Given the description of an element on the screen output the (x, y) to click on. 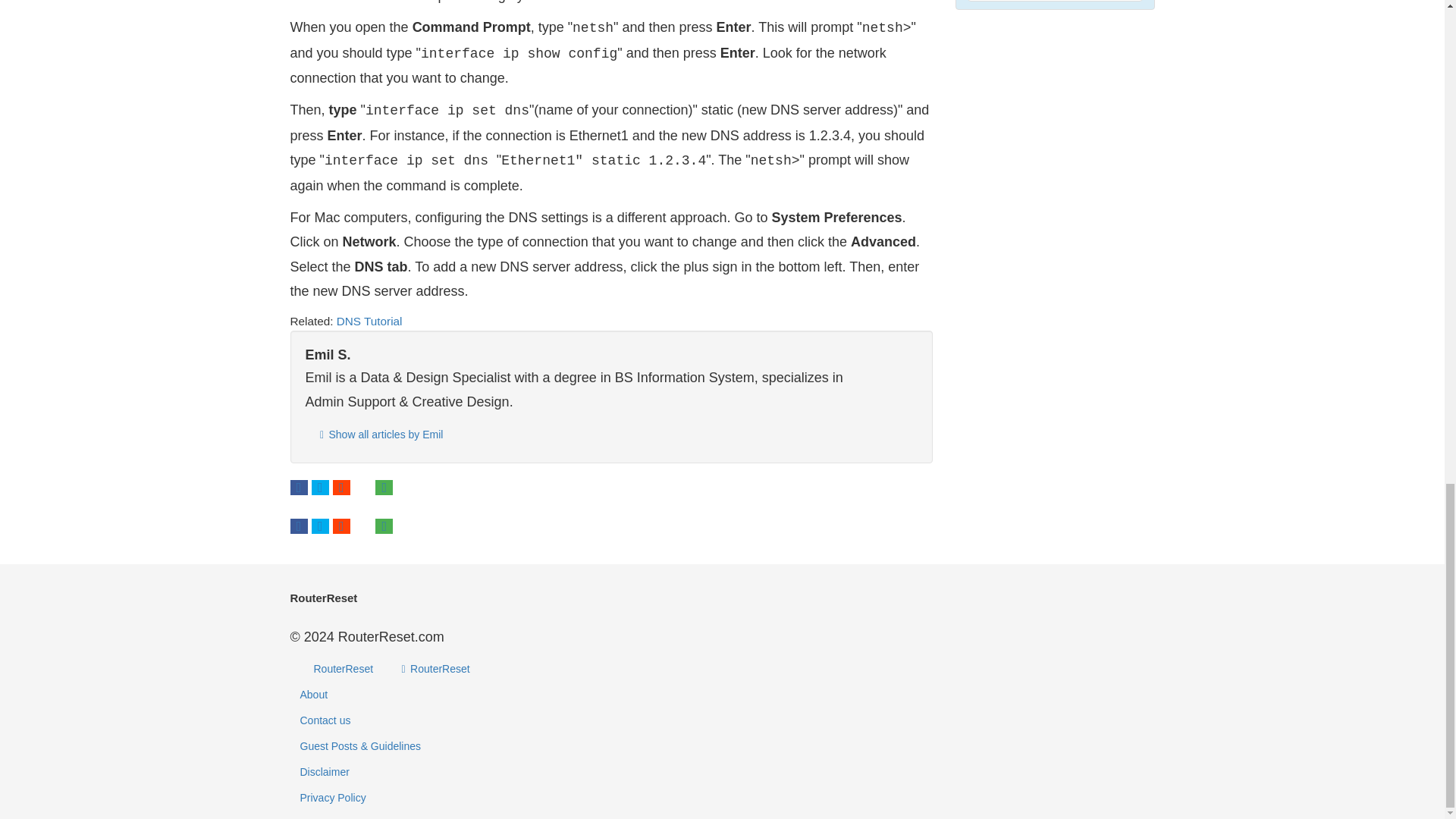
Share on Facebook (298, 525)
Share on Reddit (341, 525)
Share on Reddit (341, 487)
Share by e-mail (384, 487)
Share by e-mail (384, 487)
Show all articles by Emil (378, 434)
Share on Facebook (298, 487)
Tweet this page (320, 487)
Share on VK (362, 525)
Share by e-mail (384, 525)
Tutorial (382, 320)
DMCA.com Protection Status (1054, 29)
Tweet this page (320, 525)
Share on Facebook (298, 525)
Tweet this page (320, 525)
